Given the description of an element on the screen output the (x, y) to click on. 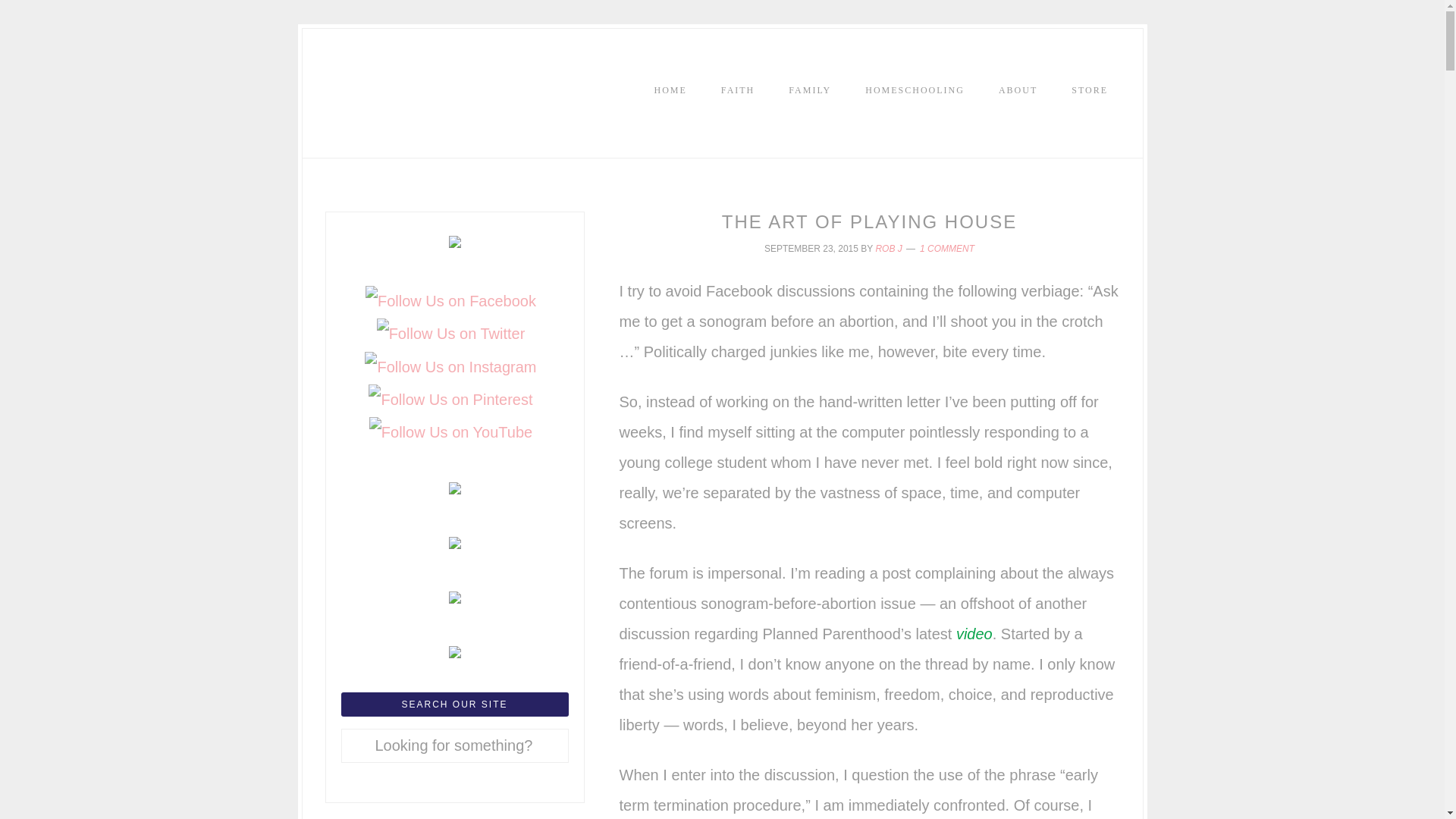
ROB J (888, 248)
Follow Us on Pinterest (450, 399)
Follow Us on Twitter (451, 333)
video (974, 633)
STORE (1089, 89)
FAMILY (809, 89)
ABOUT (1018, 89)
TRUE AIM (438, 101)
Follow Us on YouTube (450, 431)
